Given the description of an element on the screen output the (x, y) to click on. 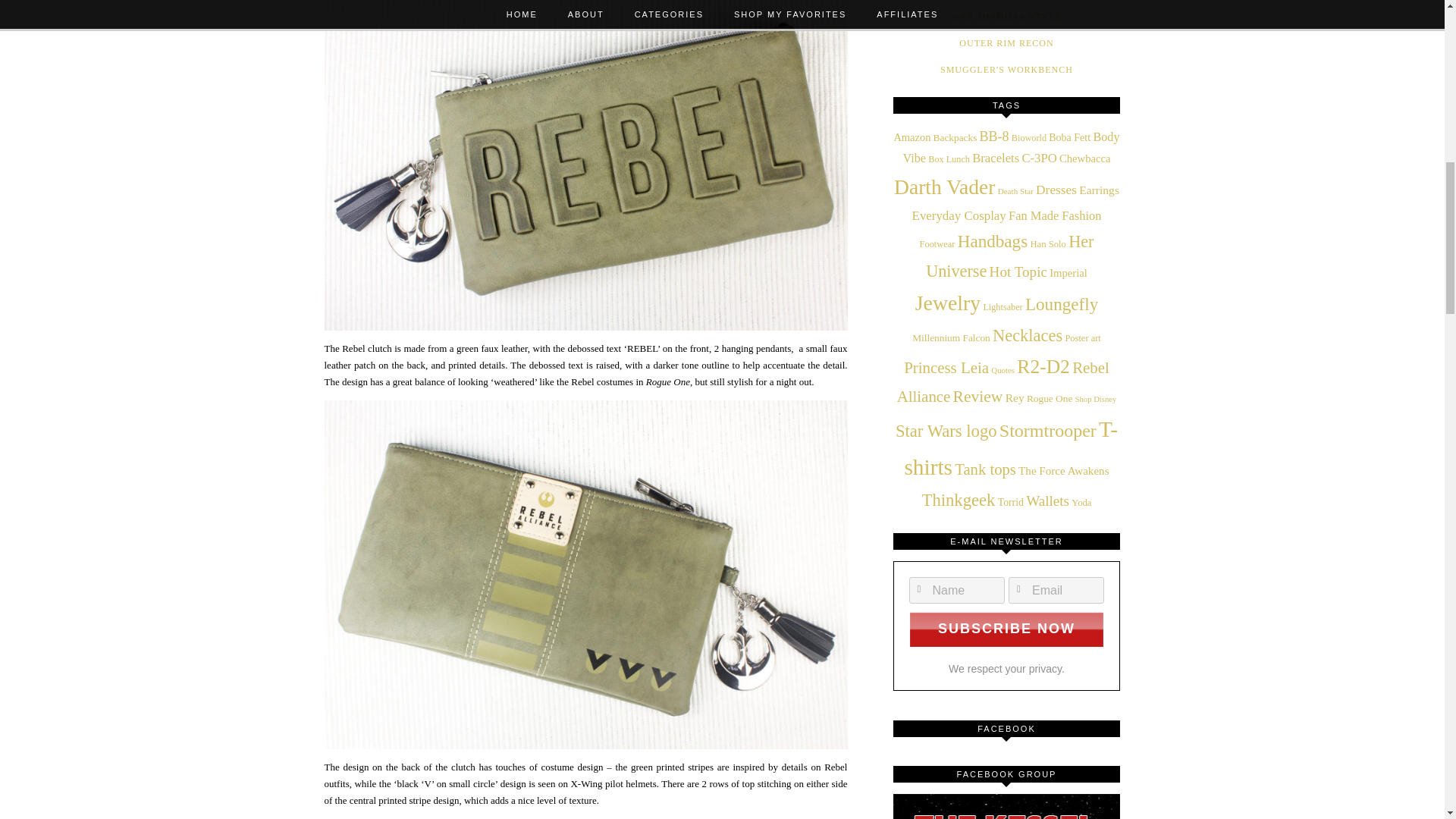
Subscribe Now (1005, 628)
